Given the description of an element on the screen output the (x, y) to click on. 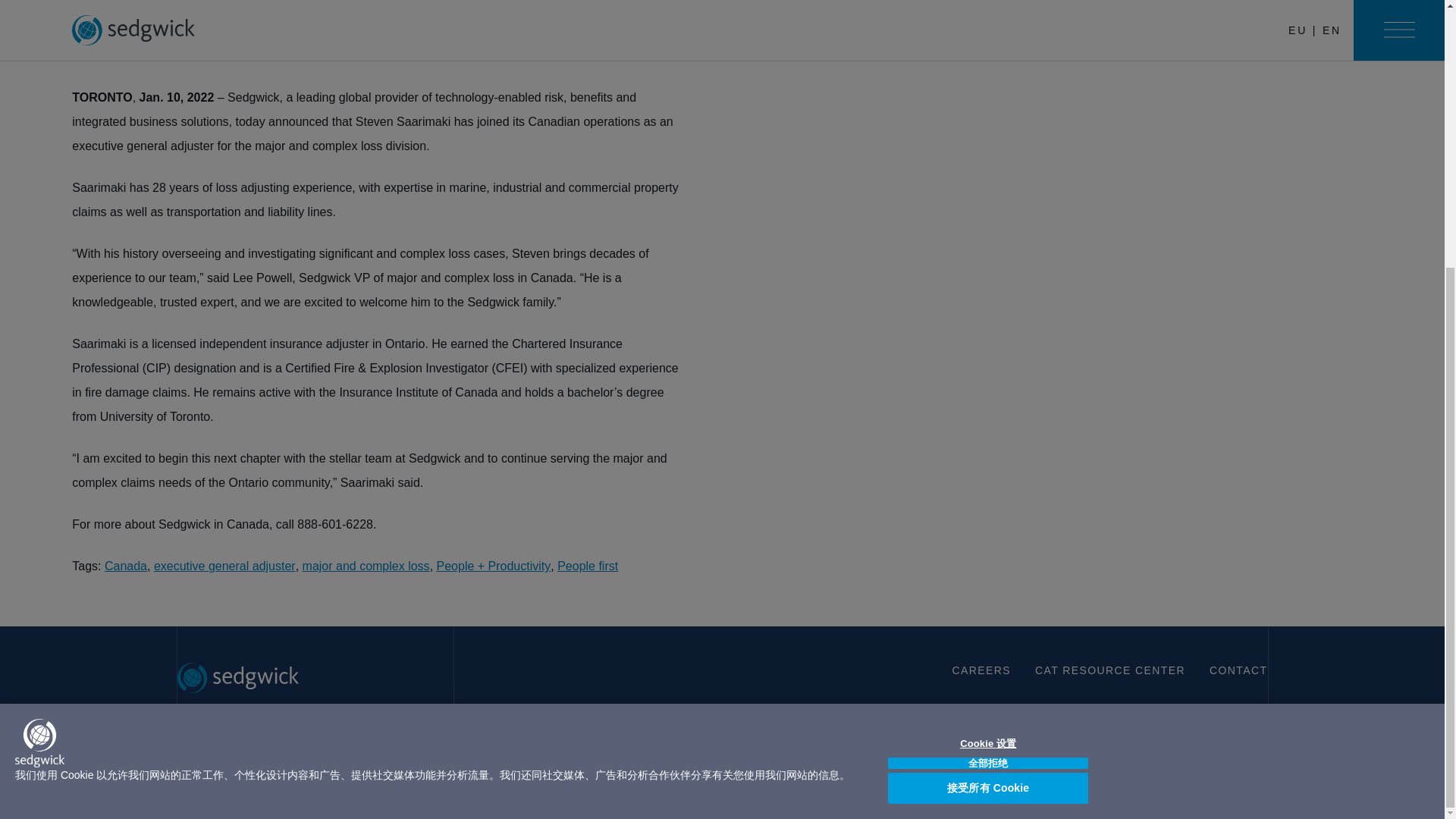
Careers (981, 669)
Contact (1238, 669)
CAT resource center (1110, 669)
